Given the description of an element on the screen output the (x, y) to click on. 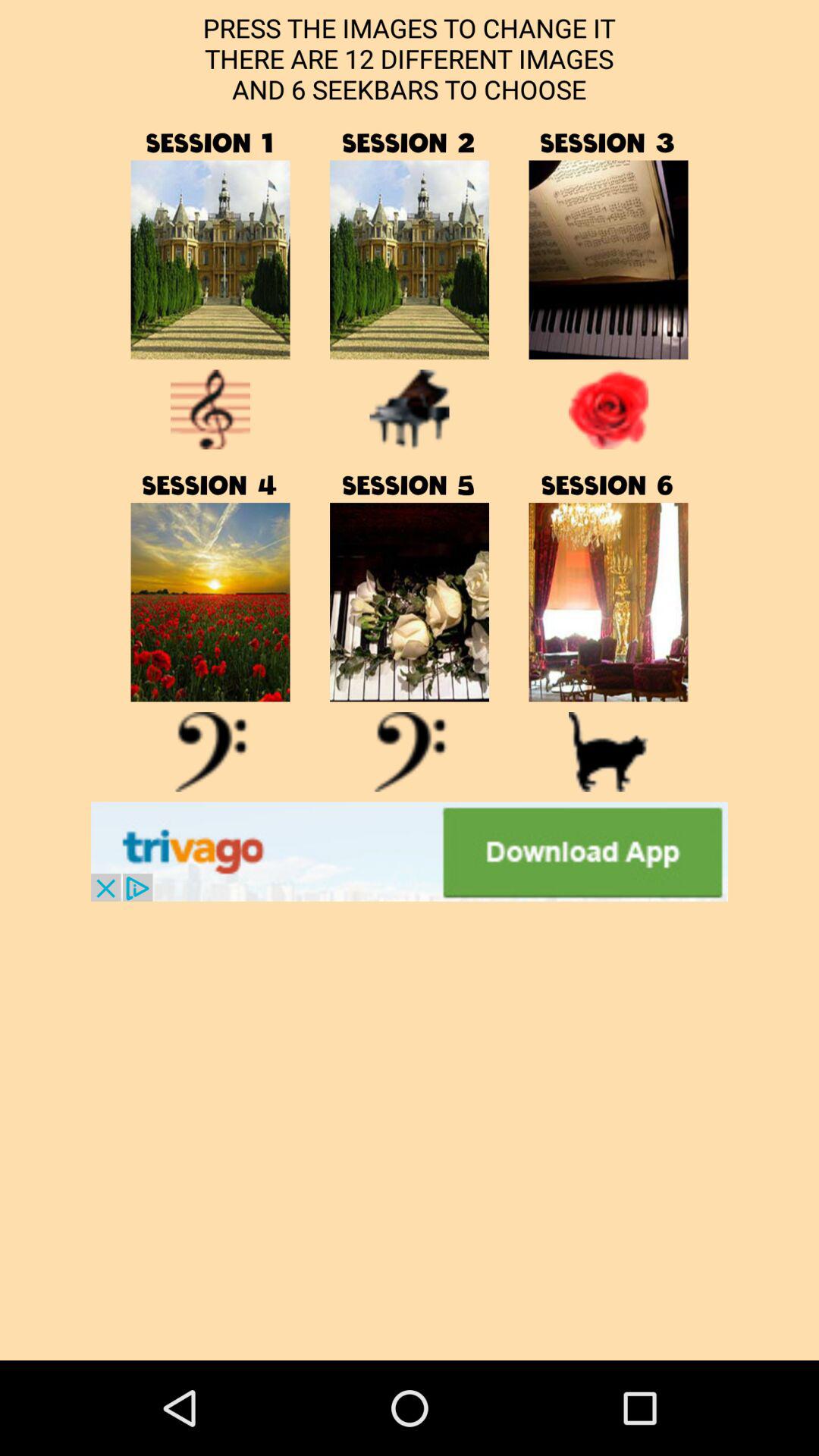
symbol (210, 751)
